Given the description of an element on the screen output the (x, y) to click on. 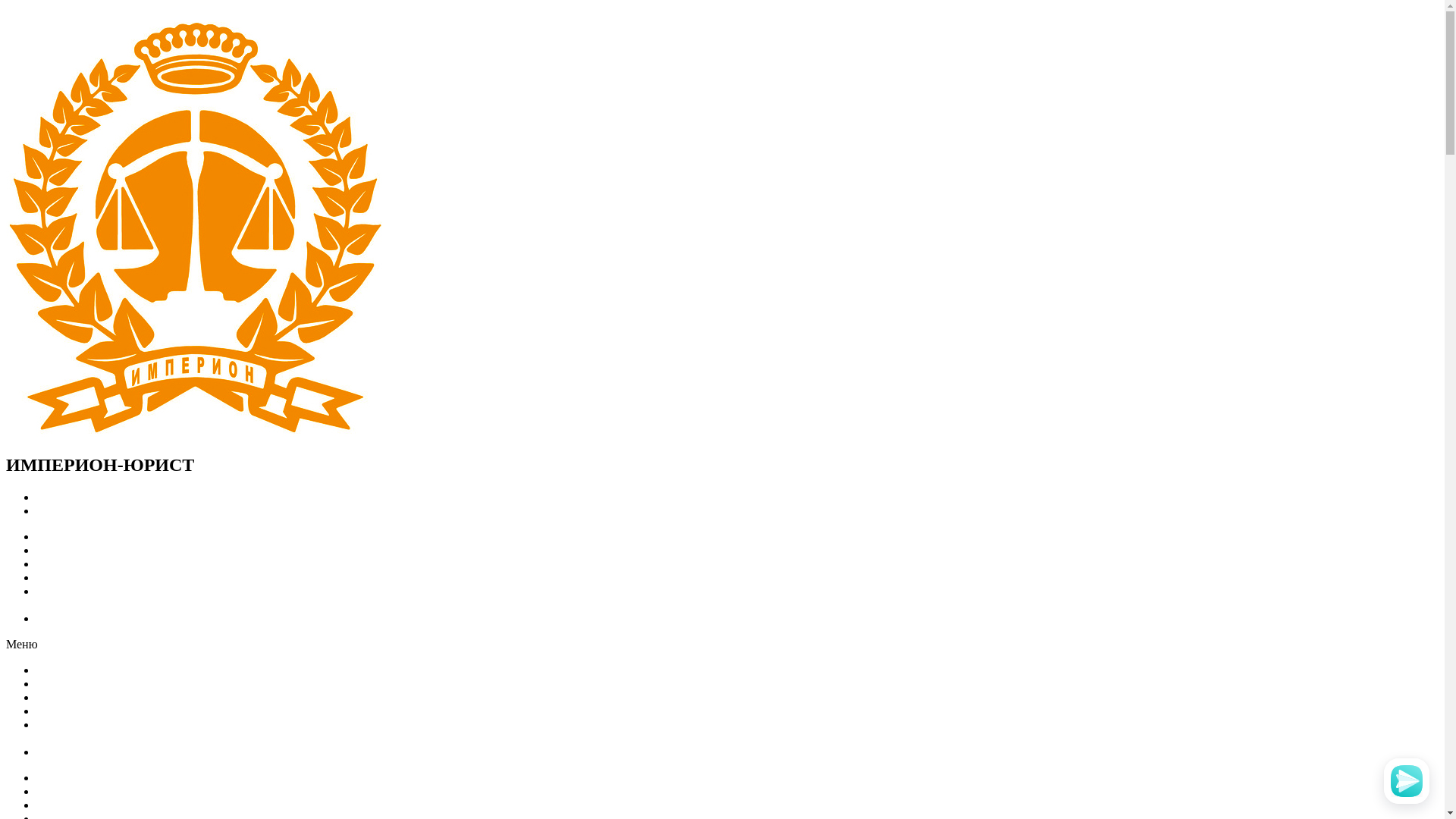
imperionur@gmail.com Element type: text (94, 510)
+375 (33) 695 41 53 Element type: text (86, 496)
